Given the description of an element on the screen output the (x, y) to click on. 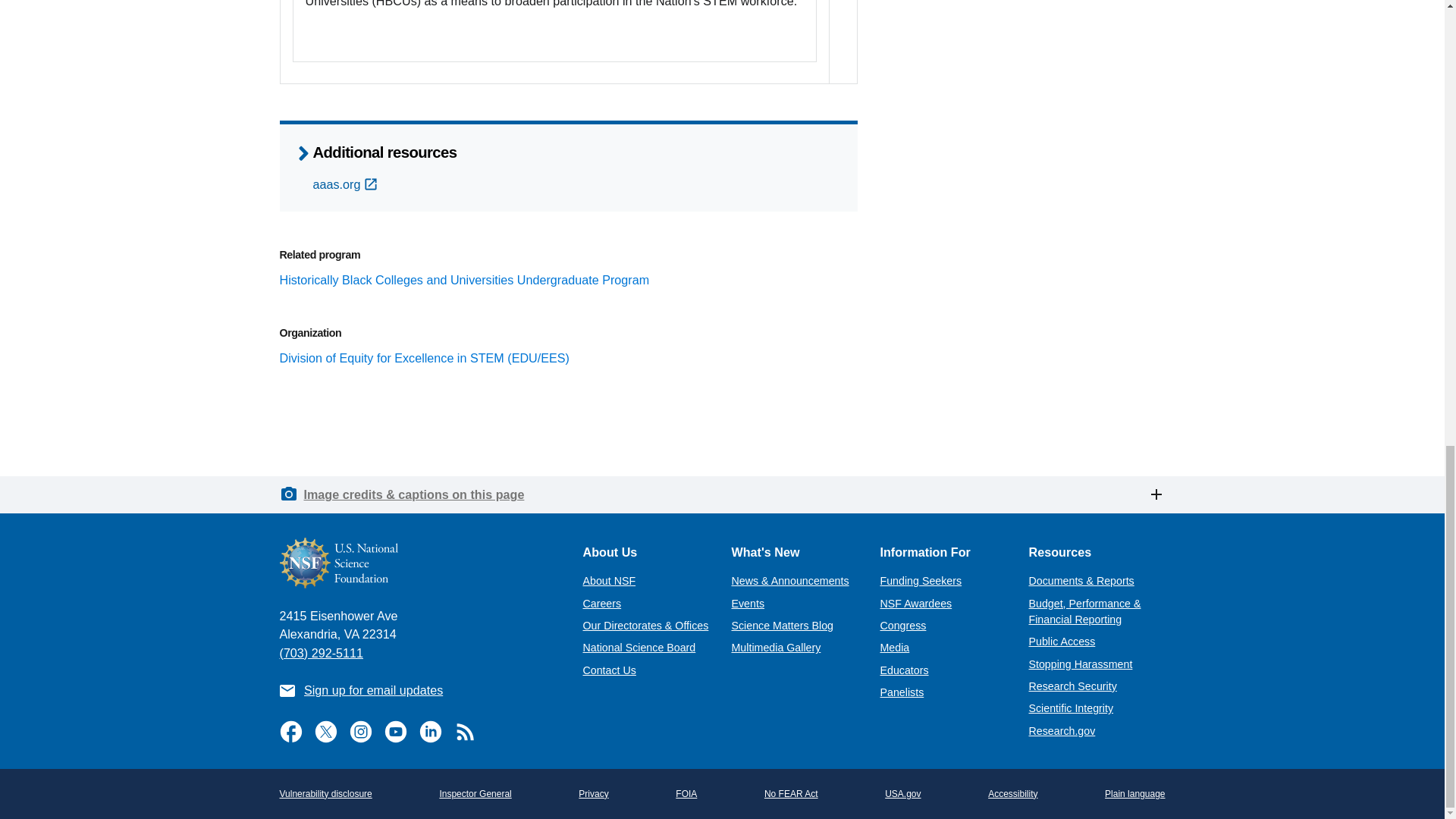
NSF - National Science Foundation - Home (418, 562)
National Science Board (638, 647)
Sign up for email updates (373, 689)
Contact Us (608, 670)
About NSF (608, 580)
Careers (601, 603)
aaas.org (345, 183)
